Given the description of an element on the screen output the (x, y) to click on. 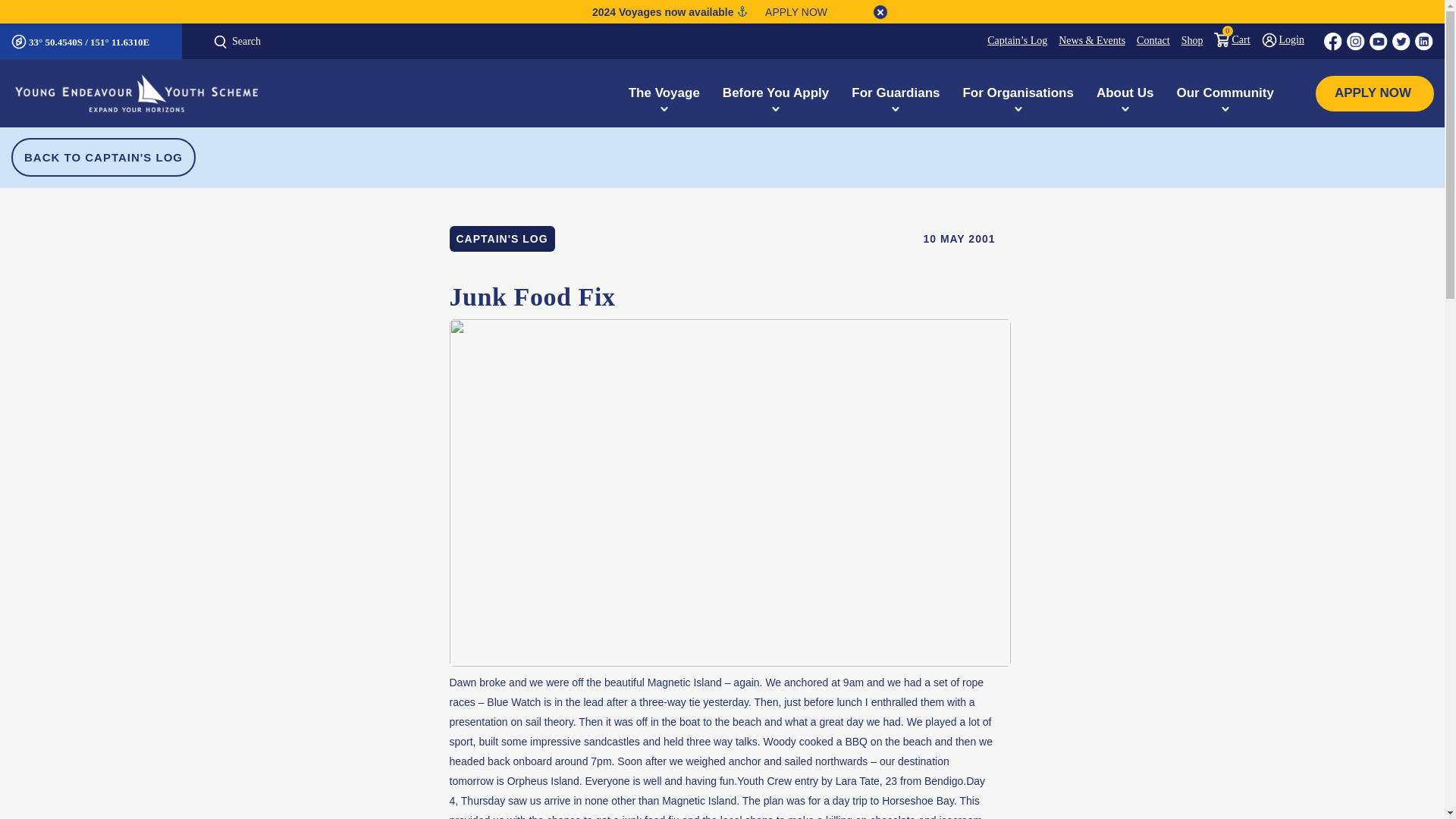
Login Element type: text (1277, 39)
Before You Apply Element type: text (775, 93)
BACK TO CAPTAIN'S LOG Element type: text (103, 157)
For Organisations Element type: text (1017, 93)
News & Events Element type: text (1086, 40)
Contact Element type: text (1147, 40)
APPLY NOW Element type: text (1374, 93)
Our Community Element type: text (1224, 93)
For Guardians Element type: text (895, 93)
About Us Element type: text (1125, 93)
The Voyage Element type: text (664, 93)
Shop Element type: text (1186, 40)
    APPLY NOW Element type: text (790, 12)
0
Cart Element type: text (1225, 39)
